Given the description of an element on the screen output the (x, y) to click on. 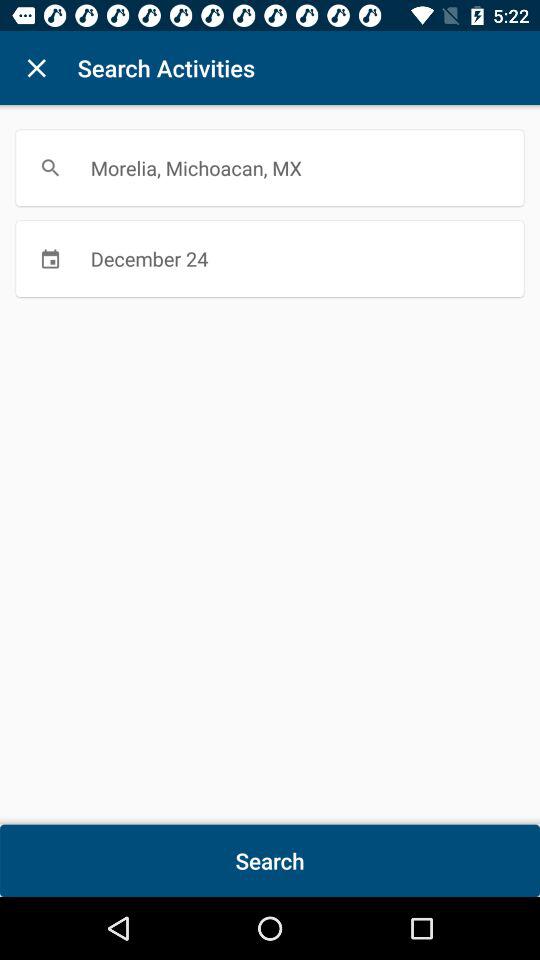
open item to the left of the search activities item (36, 68)
